Given the description of an element on the screen output the (x, y) to click on. 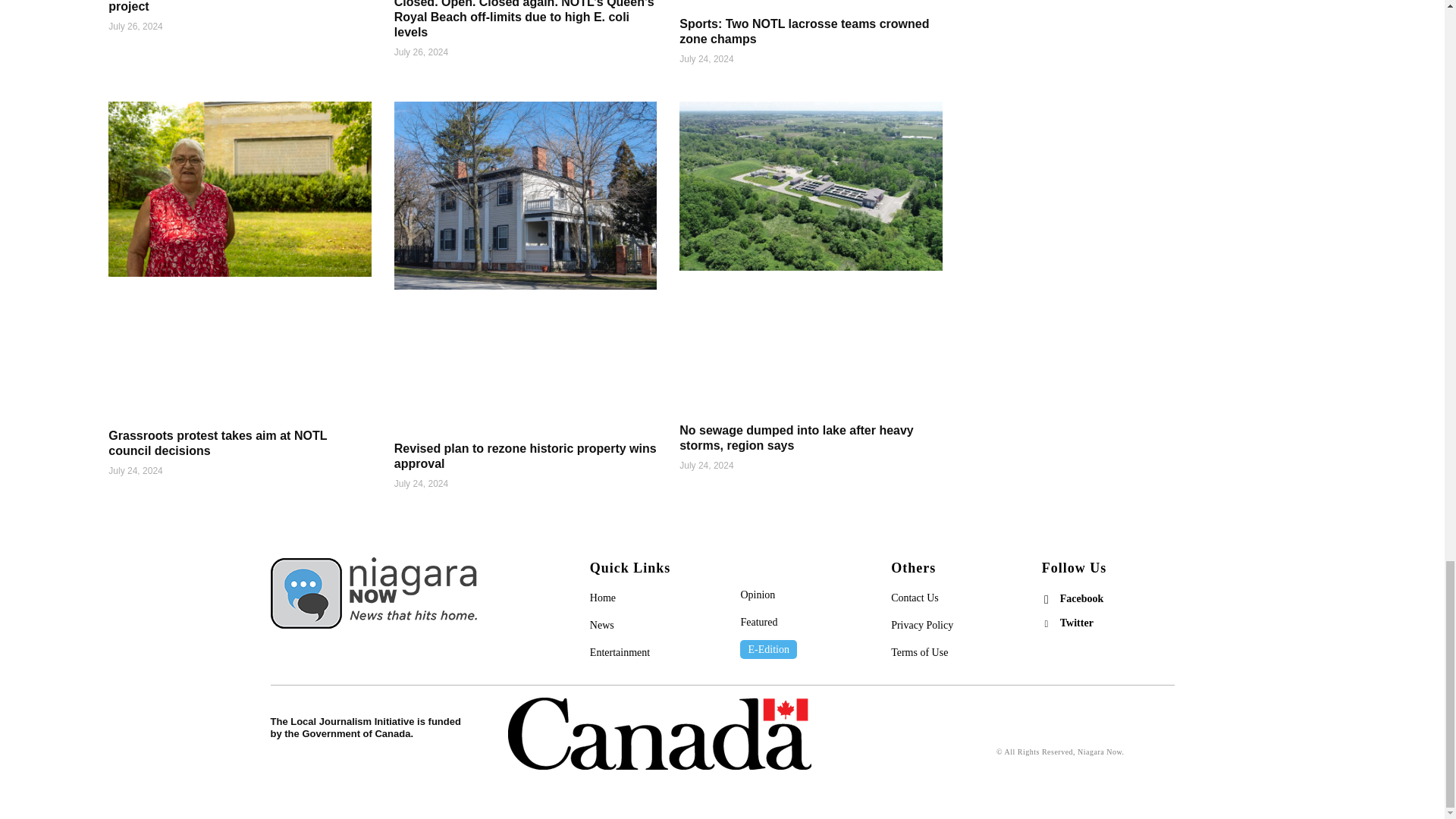
Facebook (1045, 599)
Twitter (1045, 623)
Canada (659, 733)
